Given the description of an element on the screen output the (x, y) to click on. 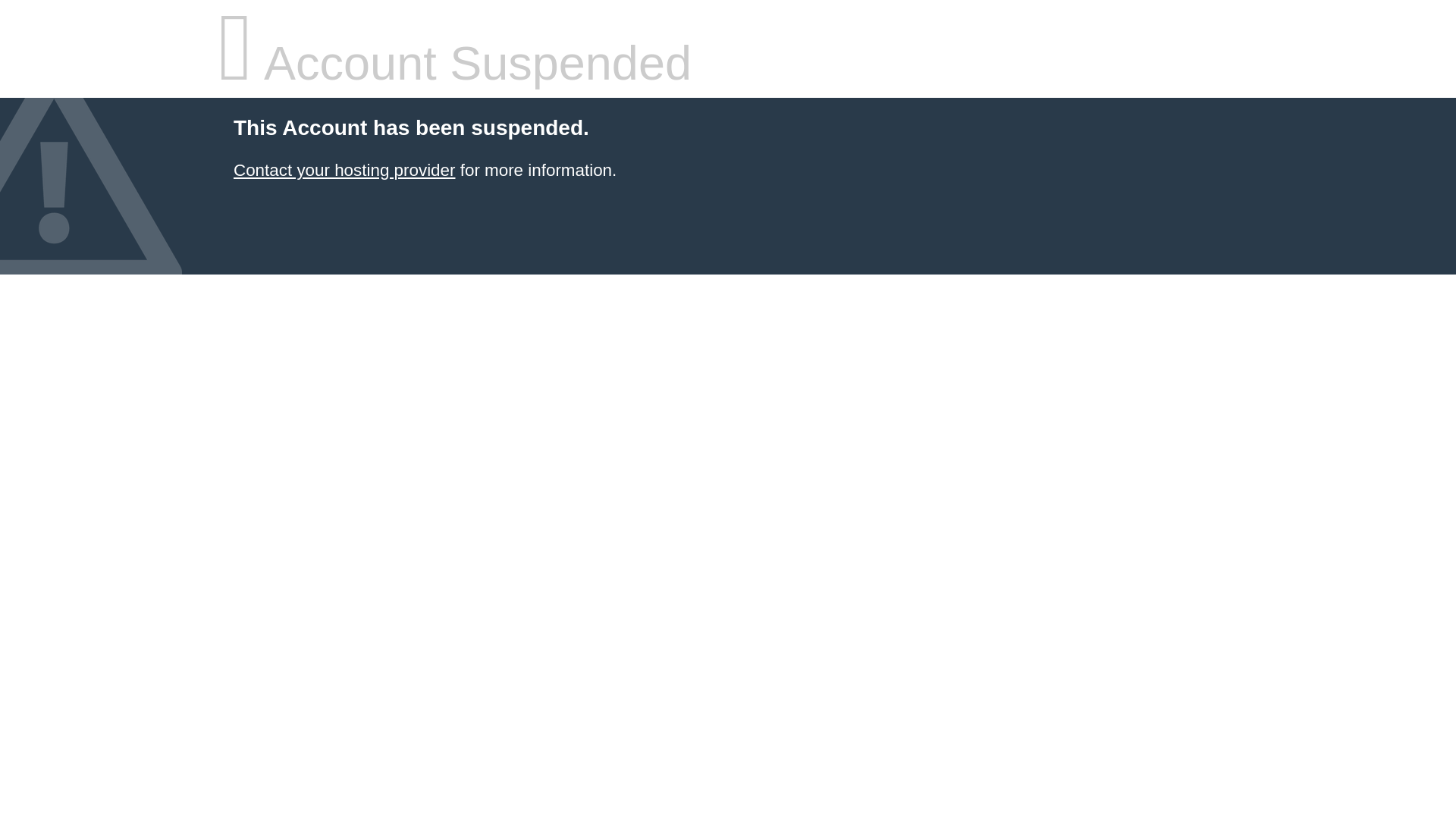
Contact your hosting provider (343, 169)
